Given the description of an element on the screen output the (x, y) to click on. 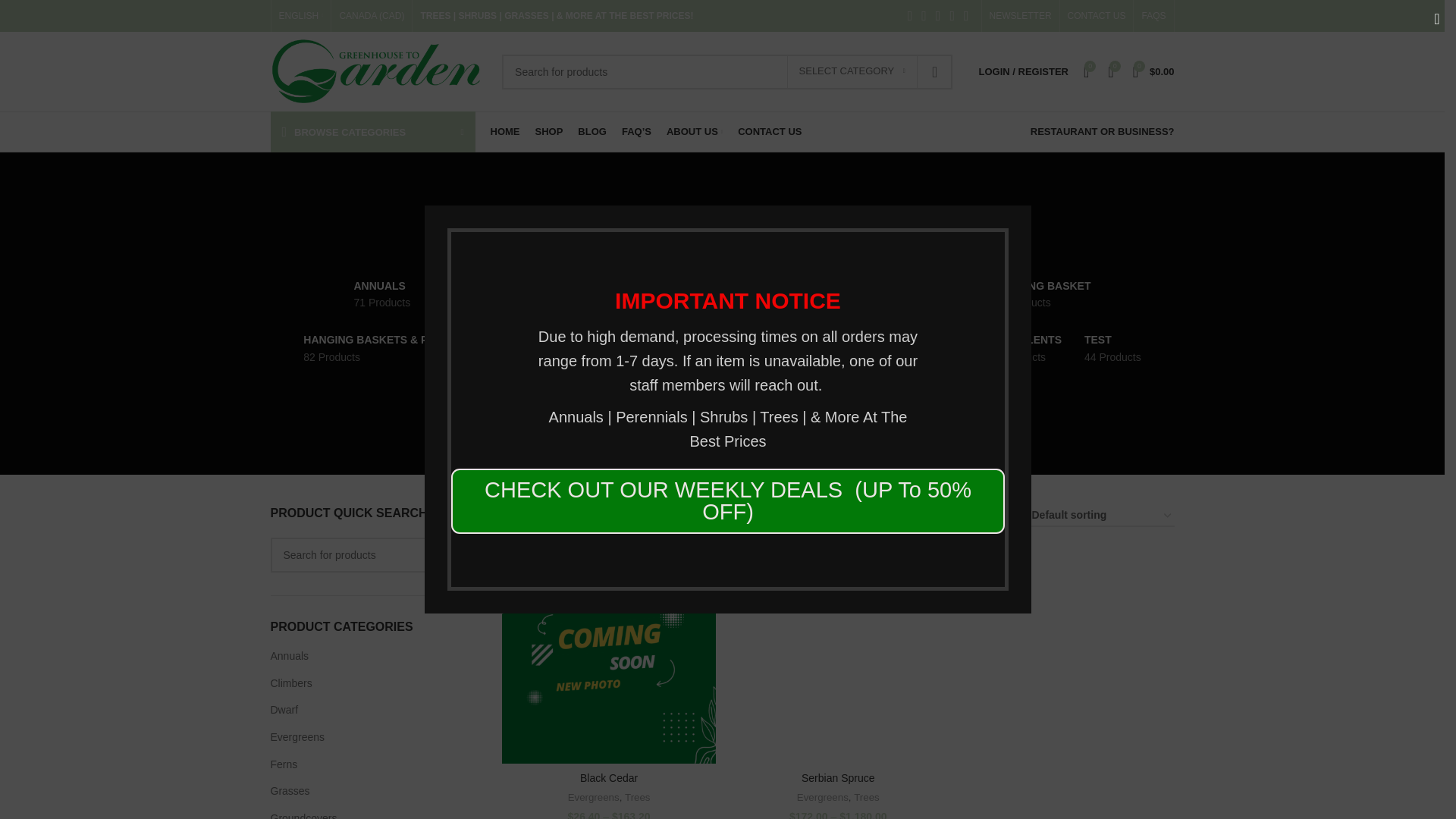
ENGLISH (301, 15)
My account (1023, 71)
Search for products (374, 554)
Shopping cart (1153, 71)
Search for products (727, 71)
NEWSLETTER (1020, 15)
CONTACT US (1096, 15)
SELECT CATEGORY (852, 71)
SELECT CATEGORY (852, 71)
